Given the description of an element on the screen output the (x, y) to click on. 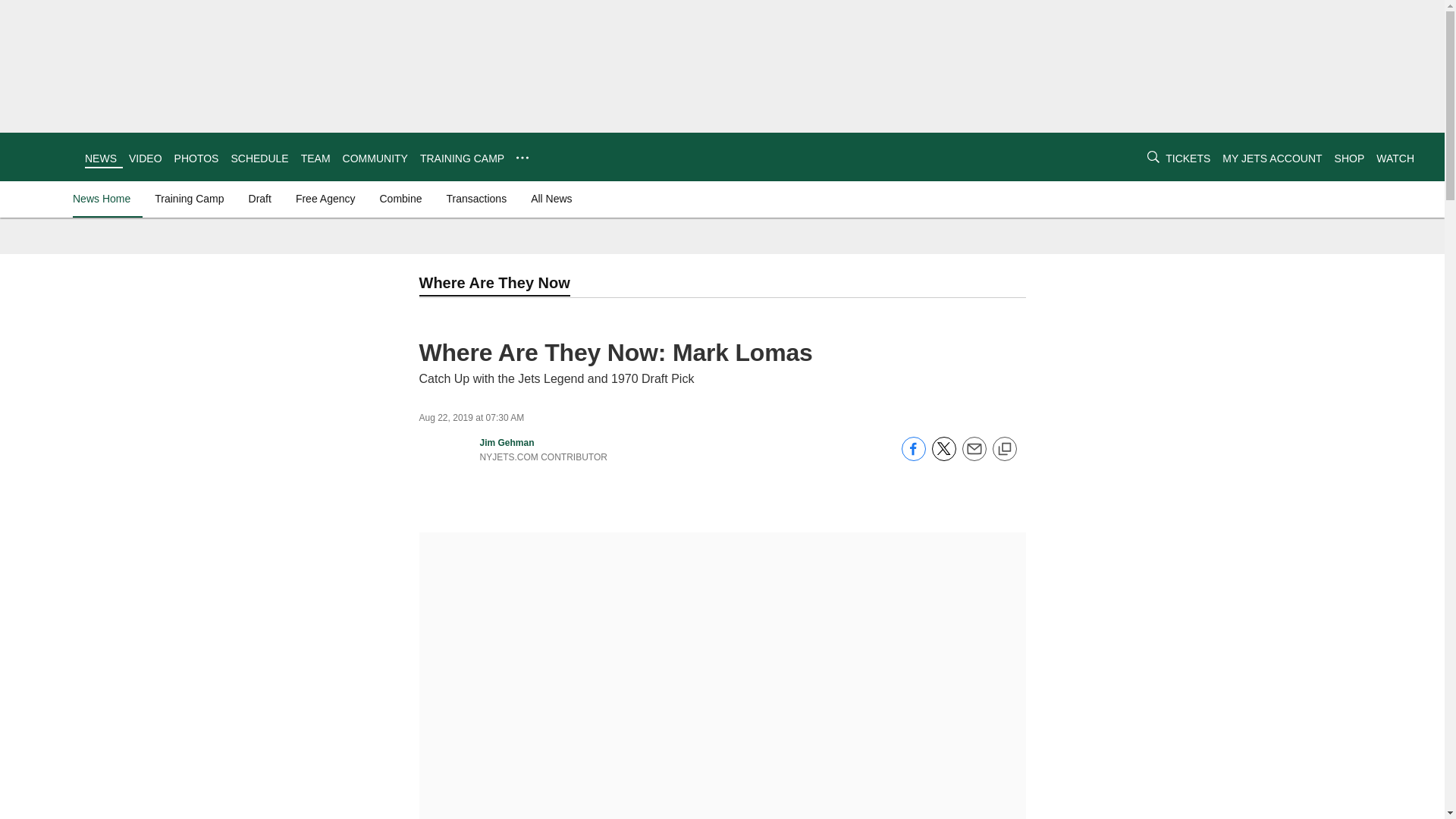
Training Camp (189, 198)
... (522, 157)
TEAM (315, 158)
COMMUNITY (374, 158)
Combine (400, 198)
TICKETS (1187, 158)
Link to club's homepage (42, 156)
SHOP (1350, 158)
TRAINING CAMP (461, 158)
TEAM (315, 158)
